Given the description of an element on the screen output the (x, y) to click on. 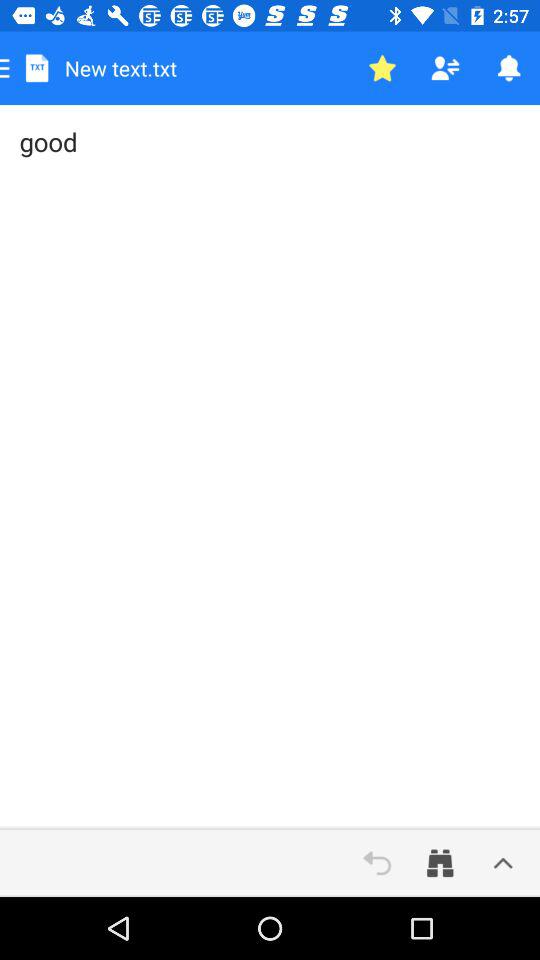
click the icon above the good (444, 68)
